Given the description of an element on the screen output the (x, y) to click on. 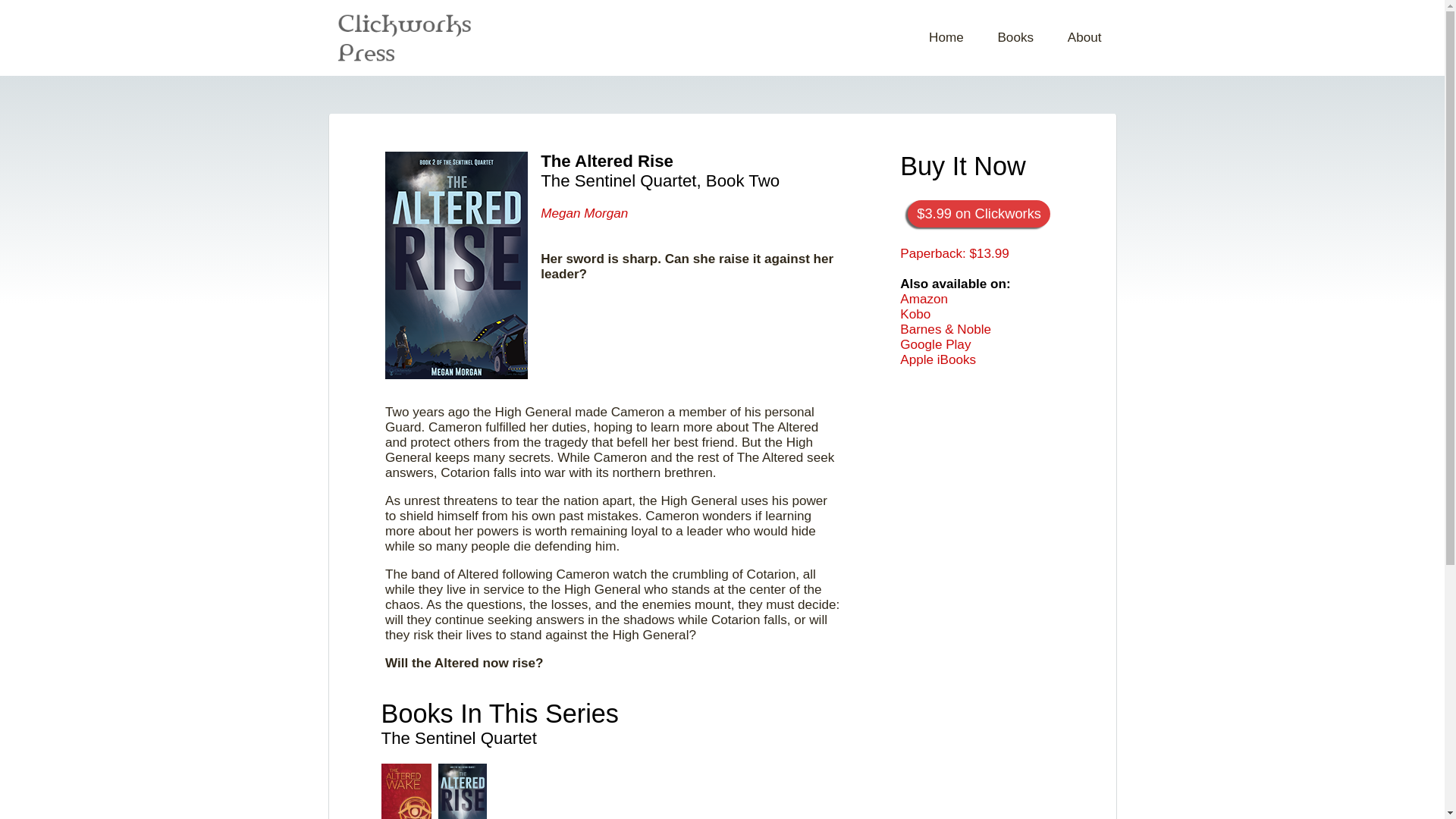
Amazon (923, 298)
Apple iBooks (937, 359)
Google Play (935, 344)
Megan Morgan (583, 213)
Home (945, 37)
Kobo (914, 314)
About (1084, 37)
Books (1015, 37)
